Given the description of an element on the screen output the (x, y) to click on. 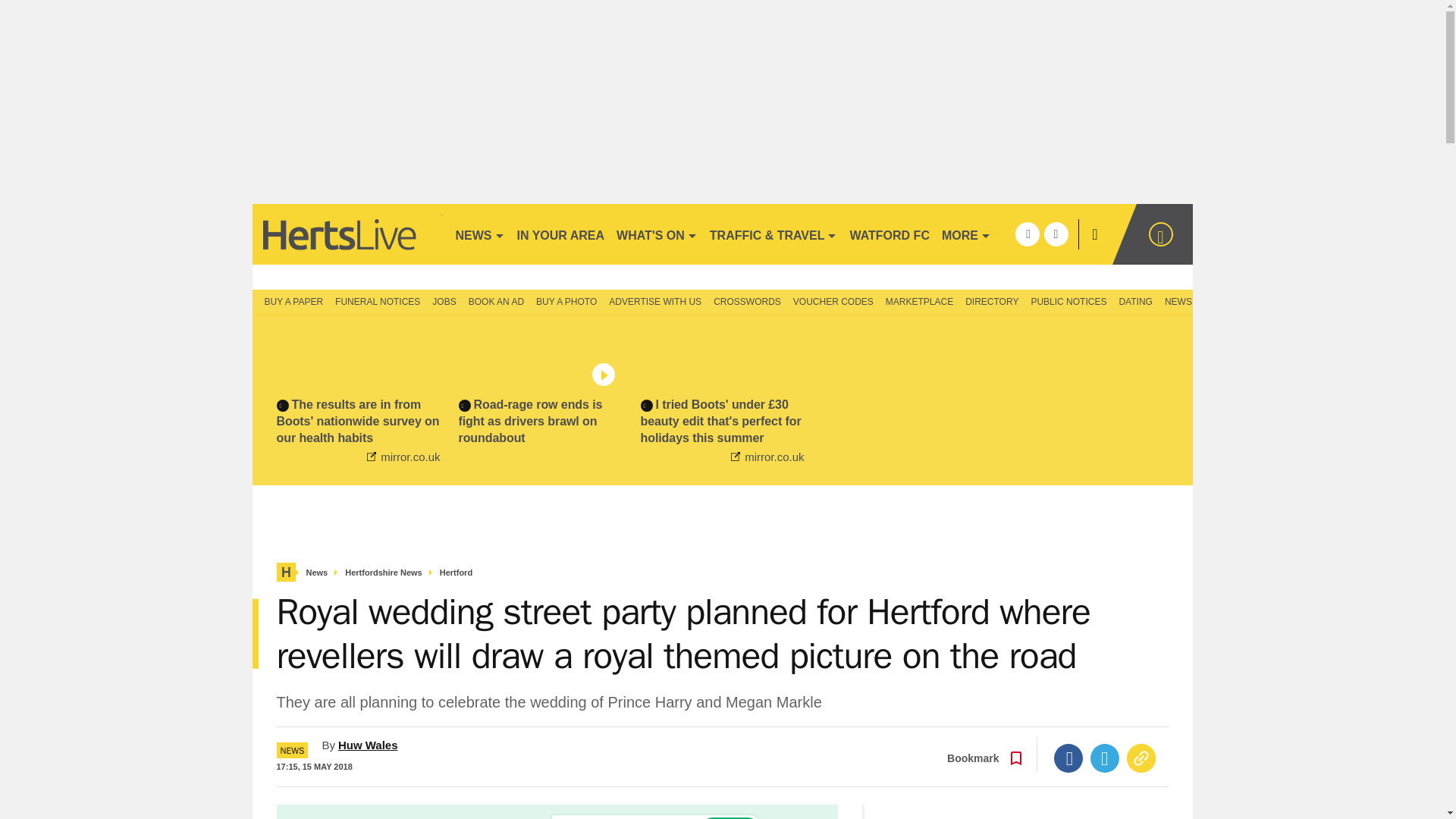
facebook (1026, 233)
Twitter (1104, 758)
WHAT'S ON (656, 233)
WATFORD FC (888, 233)
Facebook (1068, 758)
IN YOUR AREA (561, 233)
twitter (1055, 233)
NEWS (479, 233)
hertfordshiremercury (346, 233)
MORE (966, 233)
Go (730, 818)
